Given the description of an element on the screen output the (x, y) to click on. 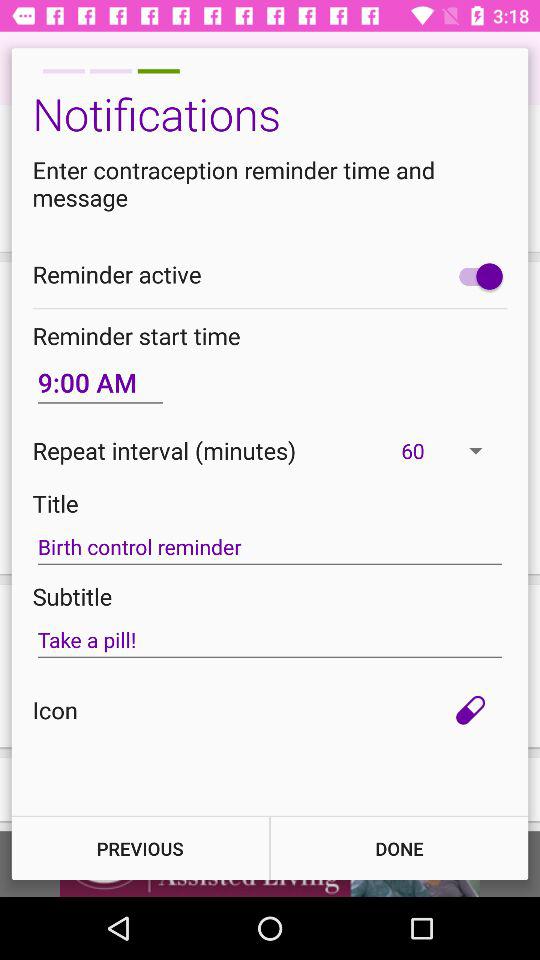
turn off icon at the top right corner (476, 275)
